Given the description of an element on the screen output the (x, y) to click on. 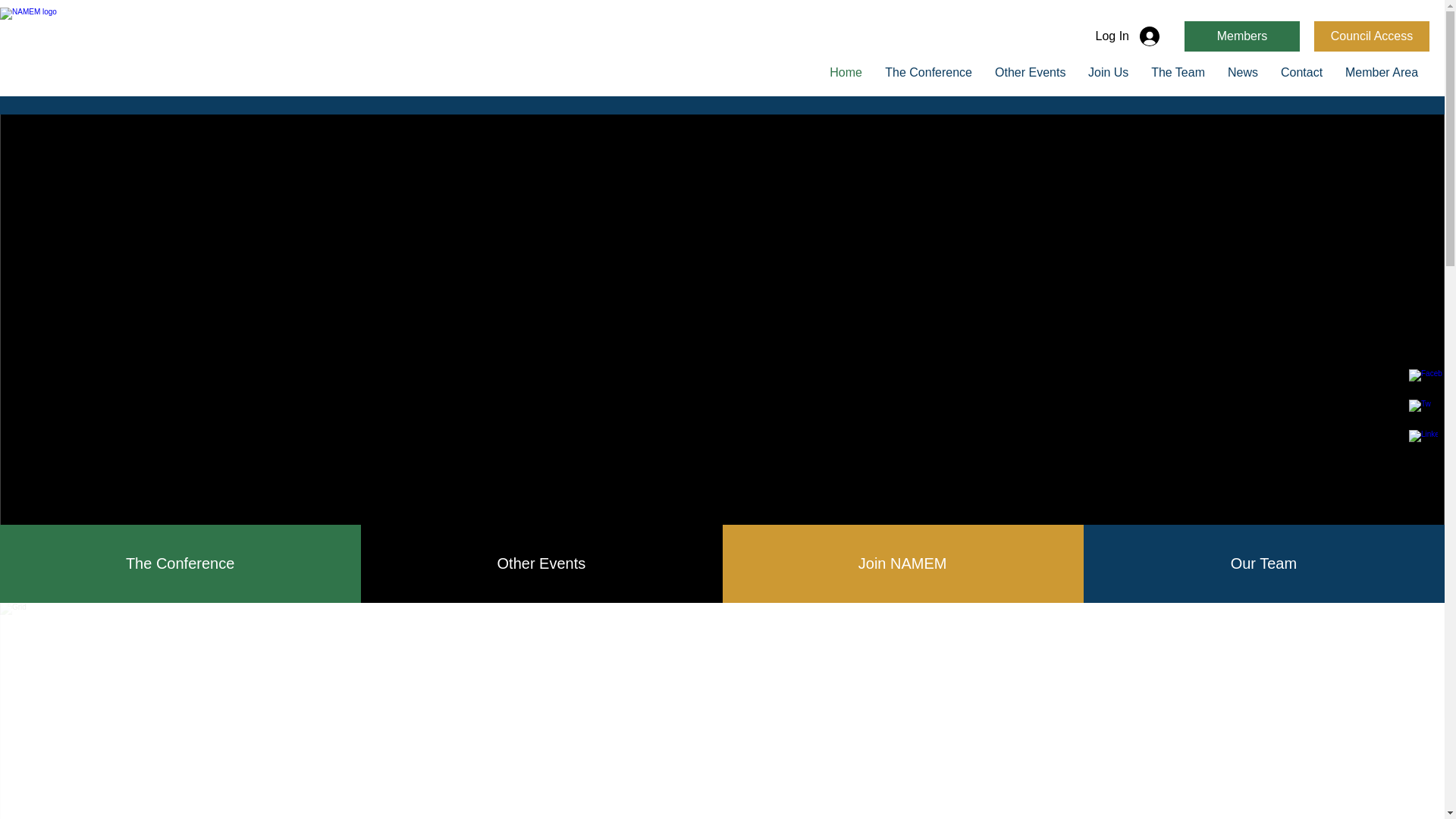
News (1242, 72)
The Conference (179, 563)
Council Access (1371, 36)
The Team (1177, 72)
Contact (1301, 72)
Join Us (1108, 72)
Our Team (1263, 563)
The Conference (928, 72)
Other Events (1030, 72)
Members (1242, 36)
